Given the description of an element on the screen output the (x, y) to click on. 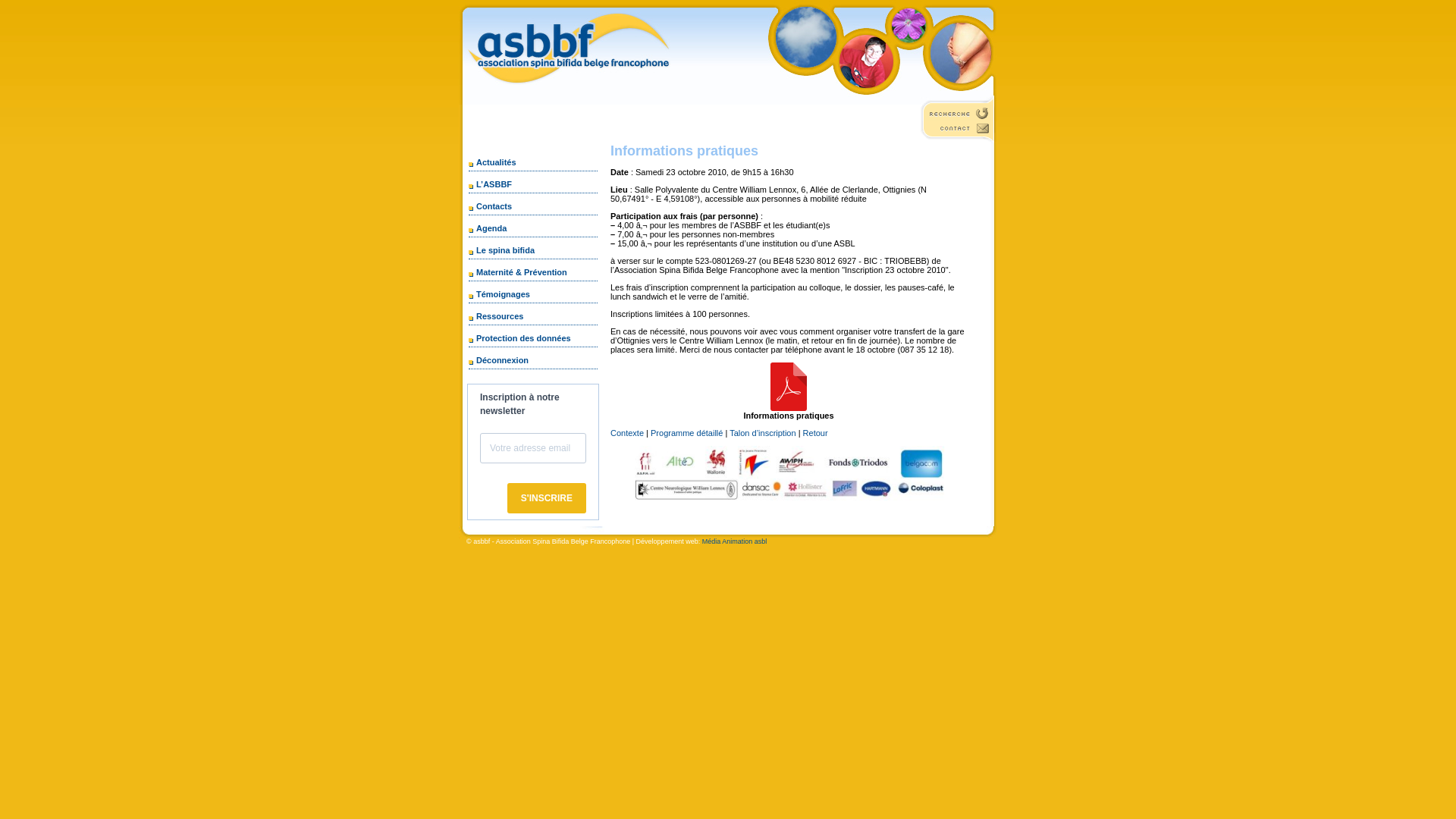
Ressources Element type: text (496, 316)
Contexte Element type: text (626, 432)
Contacts Element type: text (491, 206)
Agenda Element type: text (488, 228)
Le spina bifida Element type: text (502, 250)
recherche Element type: hover (958, 112)
contact Element type: hover (958, 132)
PDF - 208.9 kio Element type: hover (788, 407)
Retour Element type: text (815, 432)
S'INSCRIRE Element type: text (546, 498)
